Given the description of an element on the screen output the (x, y) to click on. 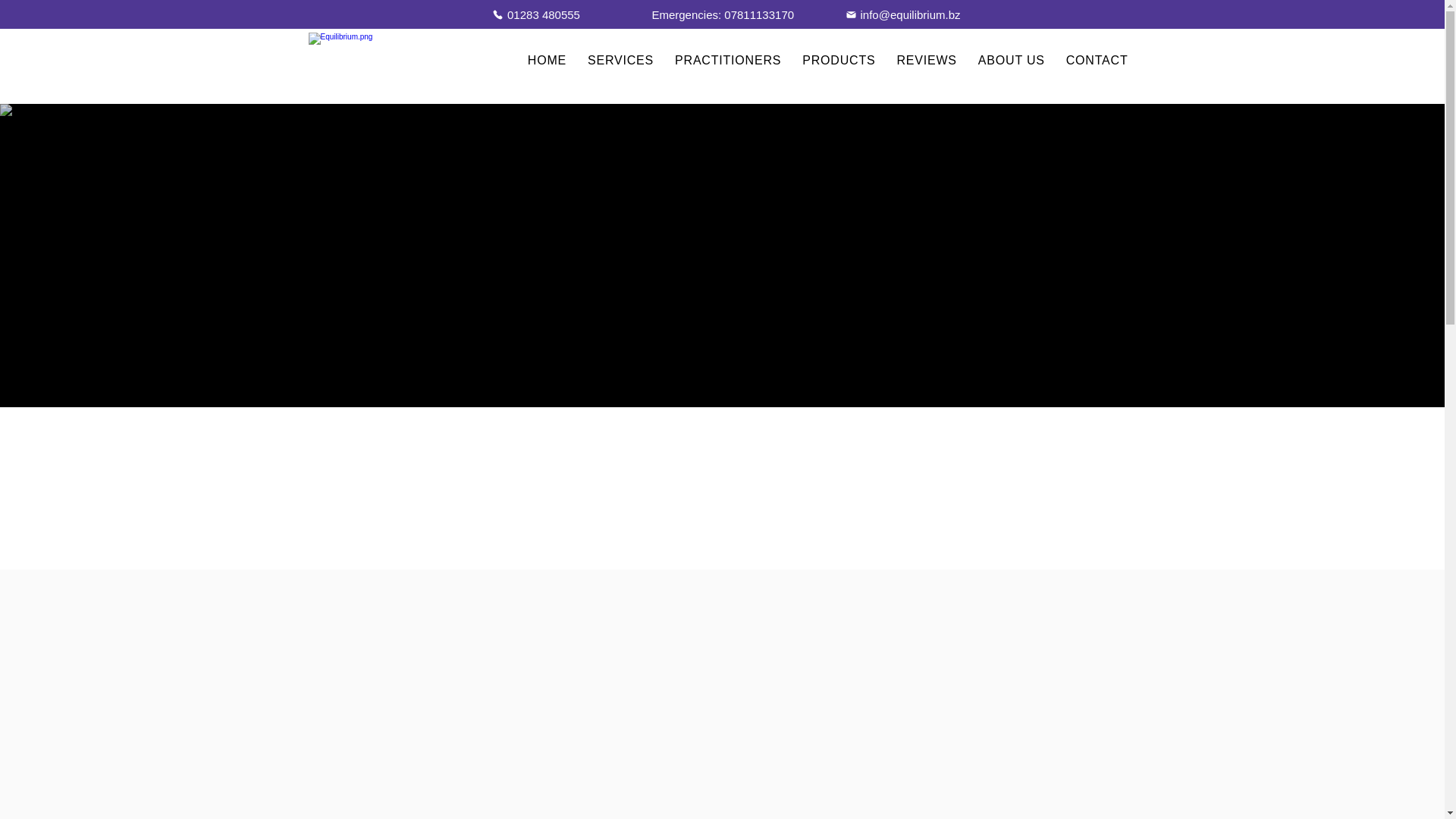
CONTACT (1096, 60)
Emergencies: 07811133170 (722, 14)
HOME (546, 60)
01283 480555 (535, 14)
PRODUCTS (838, 60)
REVIEWS (925, 60)
ABOUT US (1011, 60)
